Given the description of an element on the screen output the (x, y) to click on. 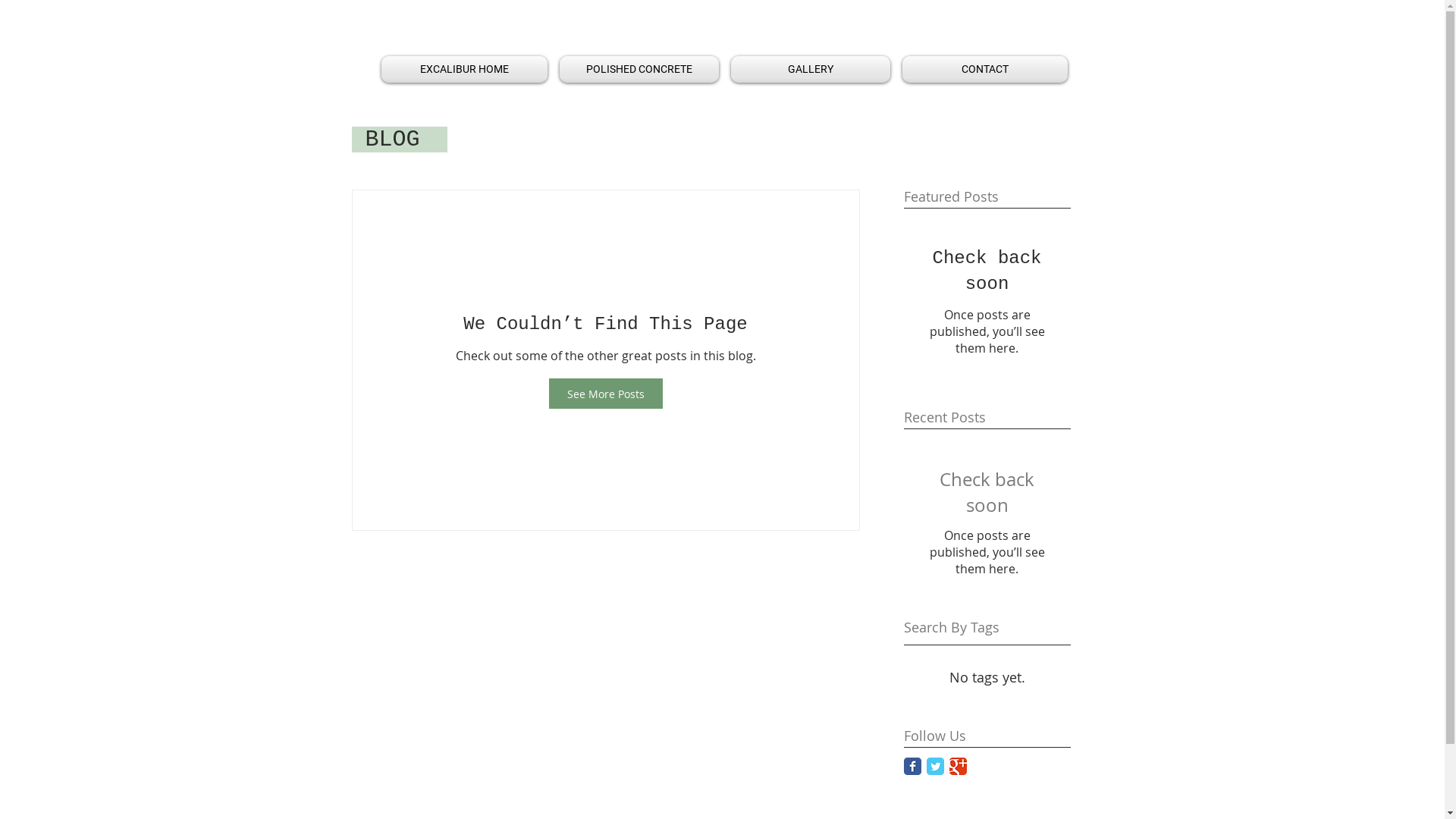
EXCALIBUR HOME Element type: text (466, 69)
POLISHED CONCRETE Element type: text (638, 69)
GALLERY Element type: text (810, 69)
See More Posts Element type: text (605, 393)
CONTACT Element type: text (981, 69)
